Given the description of an element on the screen output the (x, y) to click on. 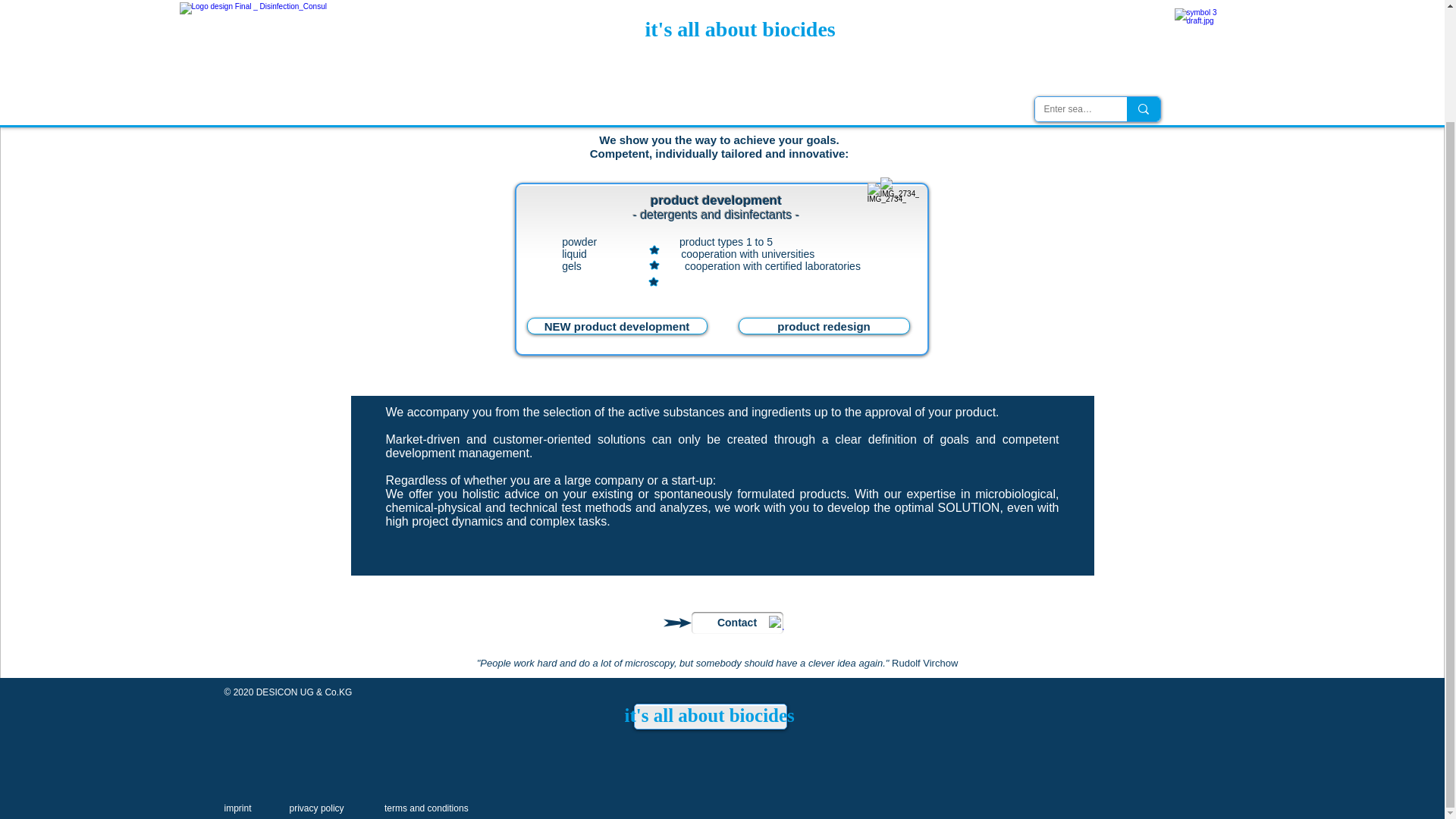
rivacy (305, 808)
imprint (237, 808)
olicy                terms and conditions (397, 808)
Contact (737, 622)
